Given the description of an element on the screen output the (x, y) to click on. 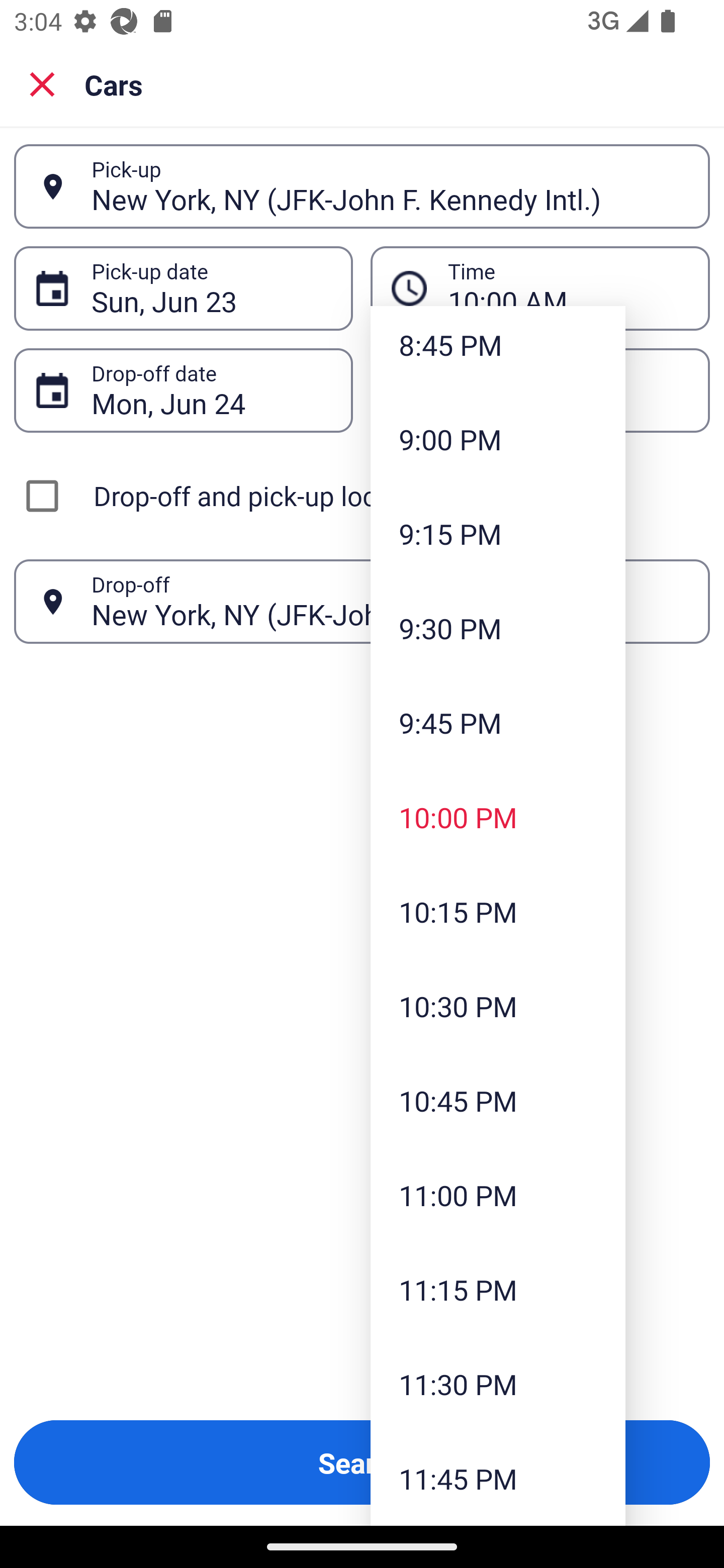
8:45 PM (497, 348)
9:00 PM (497, 439)
9:15 PM (497, 533)
9:30 PM (497, 628)
9:45 PM (497, 722)
10:00 PM (497, 816)
10:15 PM (497, 911)
10:30 PM (497, 1006)
10:45 PM (497, 1100)
11:00 PM (497, 1194)
11:15 PM (497, 1289)
11:30 PM (497, 1384)
11:45 PM (497, 1478)
